Given the description of an element on the screen output the (x, y) to click on. 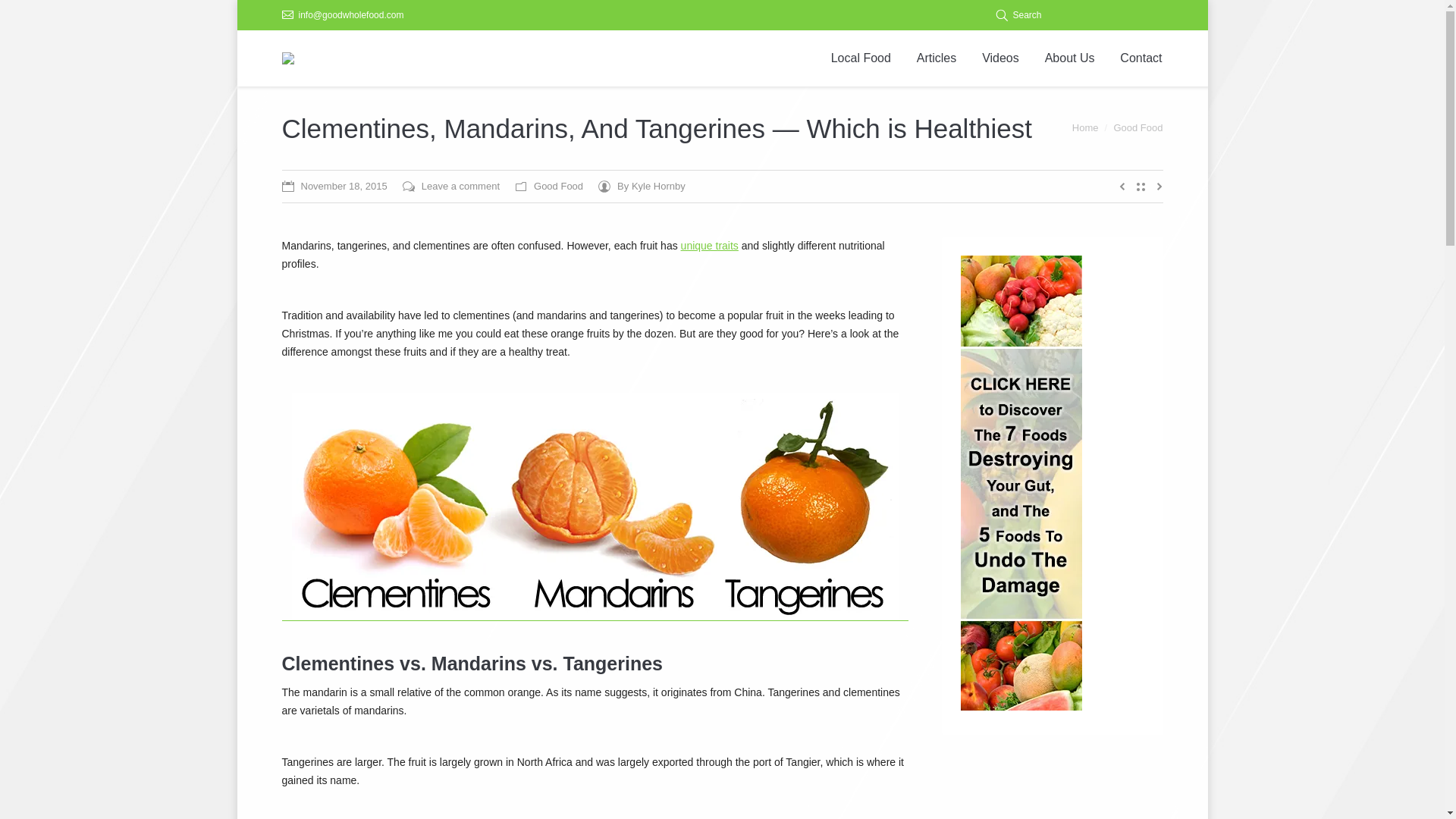
Good Food (558, 185)
Articles (935, 58)
Search (1018, 15)
Go! (16, 12)
About Us (1069, 58)
9:09 pm (334, 186)
November 18, 2015 (334, 186)
Videos (1000, 58)
Local Food (860, 58)
Contact (1140, 58)
Good Whole Food Side Banner (1020, 482)
Leave a comment (451, 186)
By Kyle Hornby (641, 186)
Good Food (1137, 127)
unique traits (709, 245)
